Given the description of an element on the screen output the (x, y) to click on. 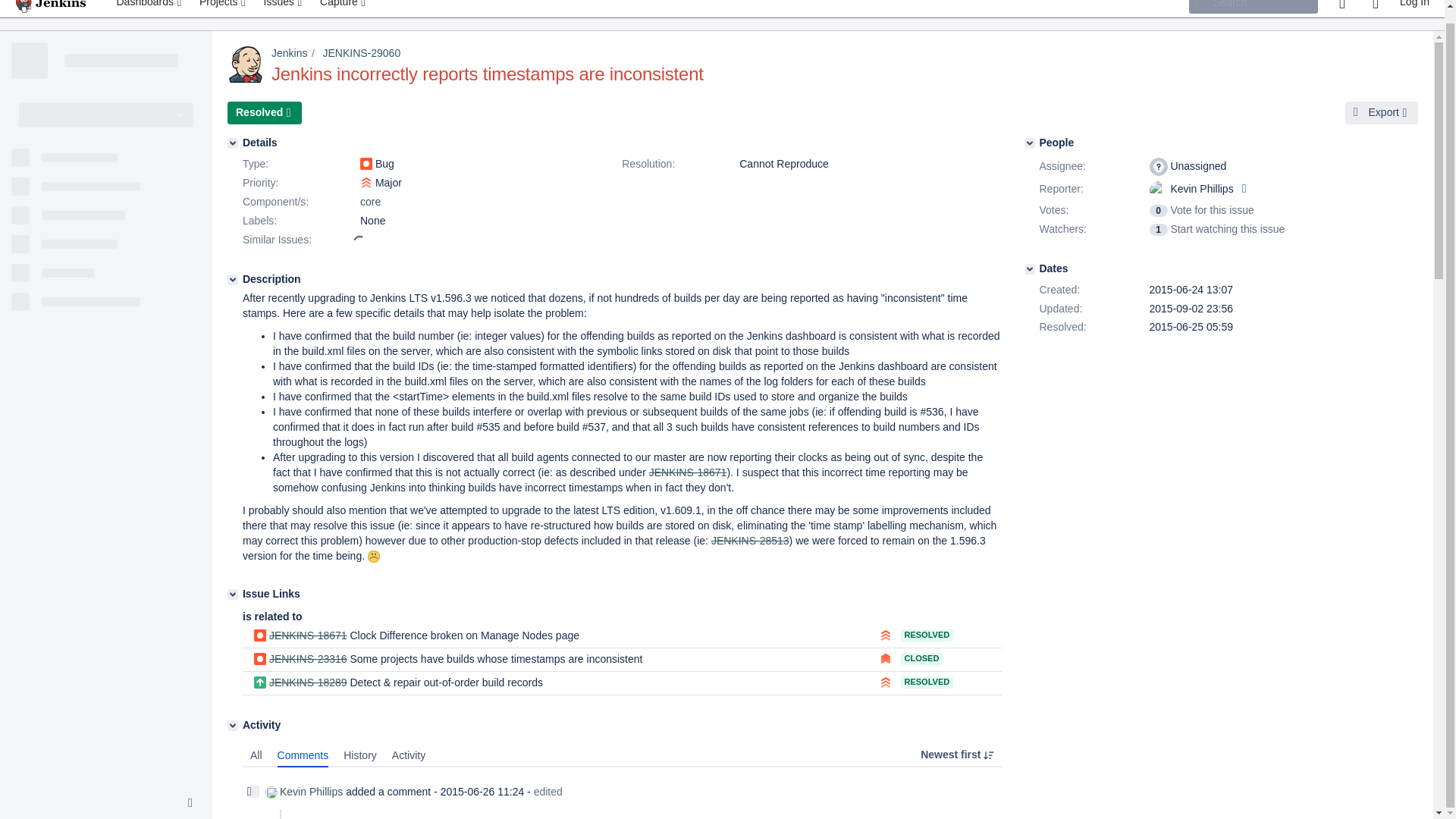
core (369, 201)
Export (1381, 112)
JENKINS-18671 (687, 472)
JENKINS-29060 (360, 52)
Resolved (264, 112)
Give feedback to Atlassian (1341, 8)
Export this issue in another format (1381, 112)
Search for issues and view recent issues (284, 8)
Activity (232, 725)
Log In (1414, 8)
